Given the description of an element on the screen output the (x, y) to click on. 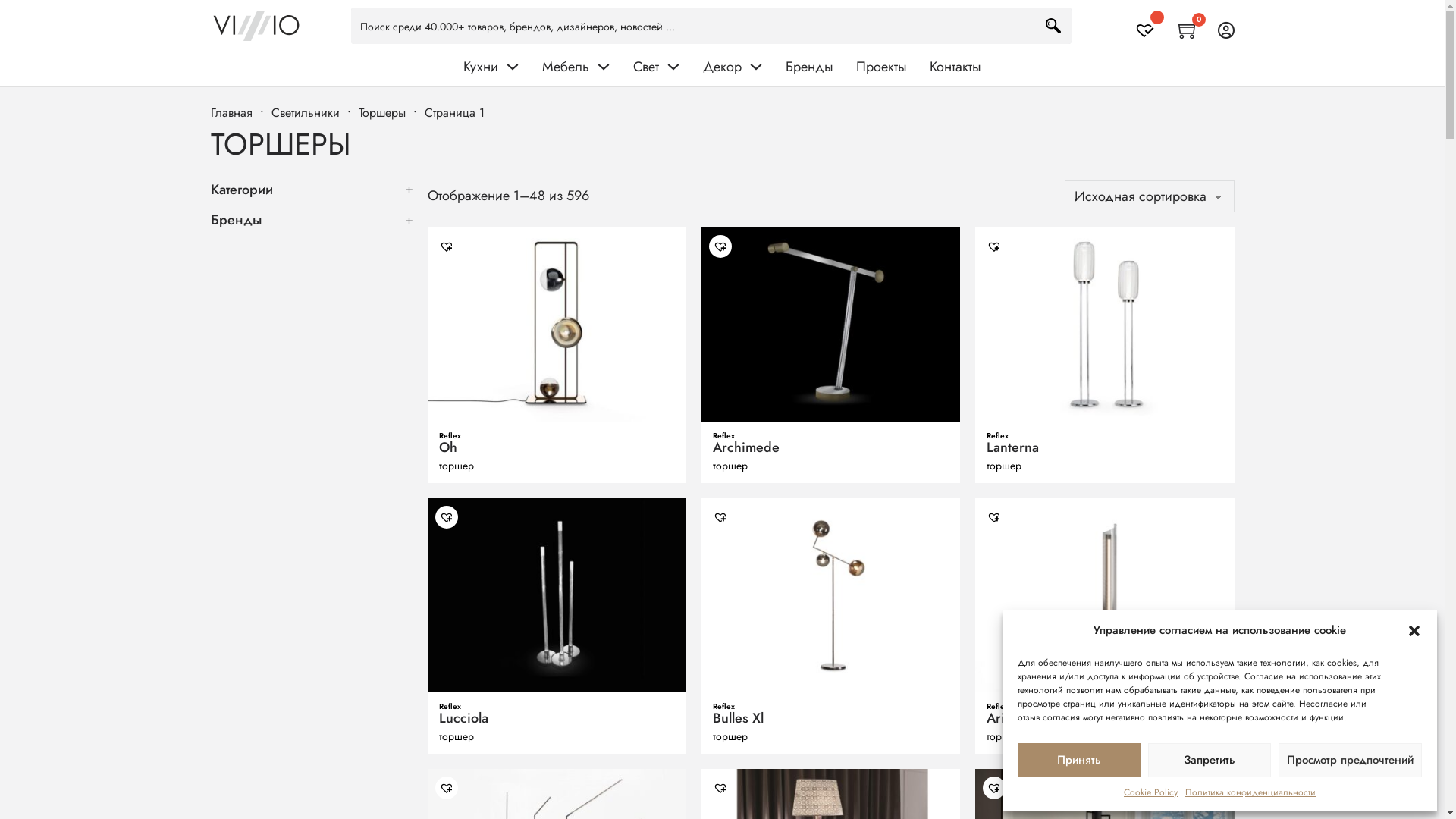
Lucciola Element type: text (462, 718)
0 Element type: text (1190, 29)
Bulles Xl Element type: text (737, 718)
Cookie Policy Element type: text (1150, 792)
Lanterna Element type: text (1012, 447)
Archimede Element type: text (745, 447)
Oh Element type: text (447, 447)
Aria Element type: text (998, 718)
